Given the description of an element on the screen output the (x, y) to click on. 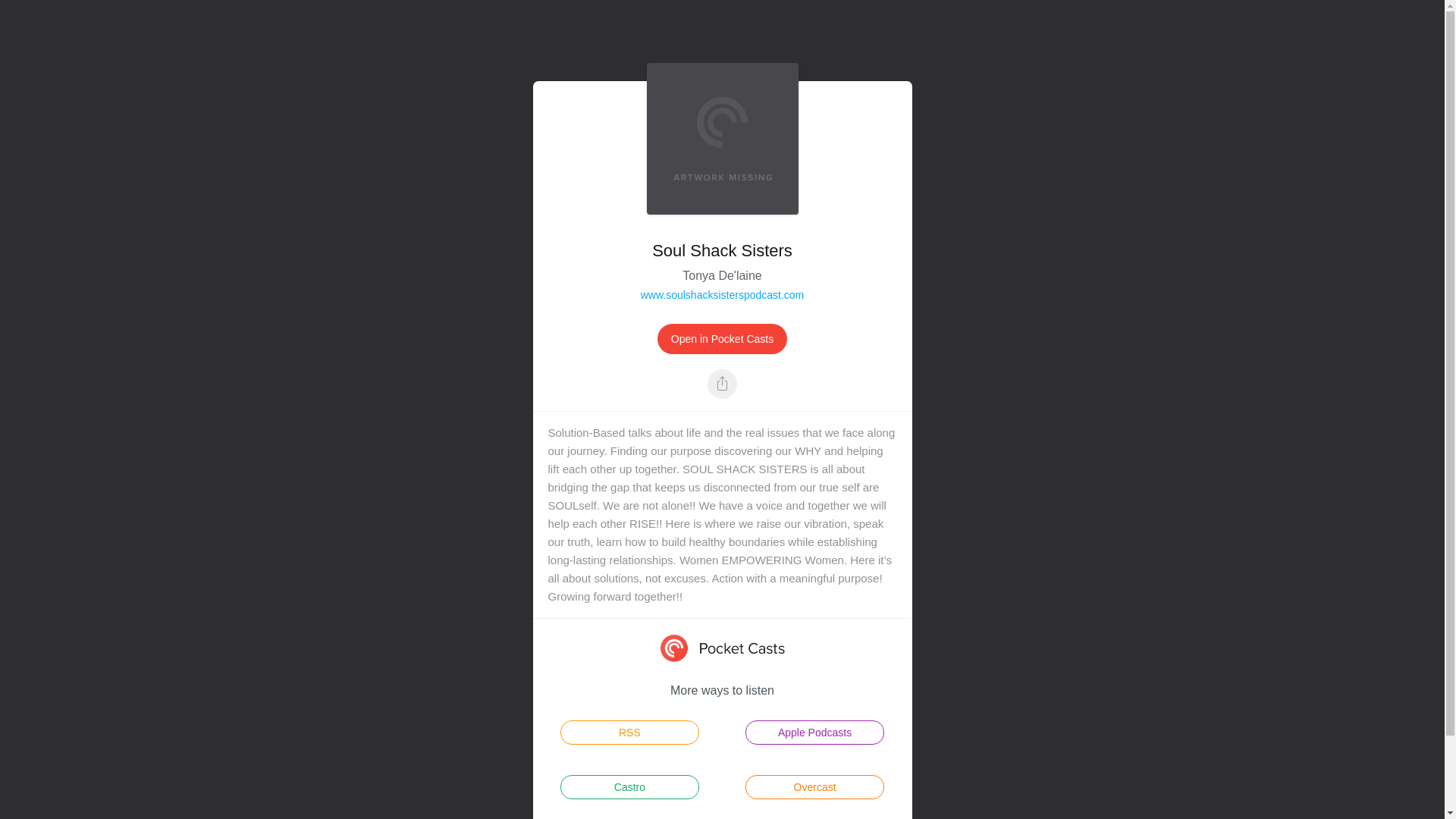
RSS (629, 732)
Castro (629, 786)
Apple Podcasts (814, 732)
Overcast (814, 786)
Open in Pocket Casts (722, 338)
www.soulshacksisterspodcast.com (722, 295)
